Given the description of an element on the screen output the (x, y) to click on. 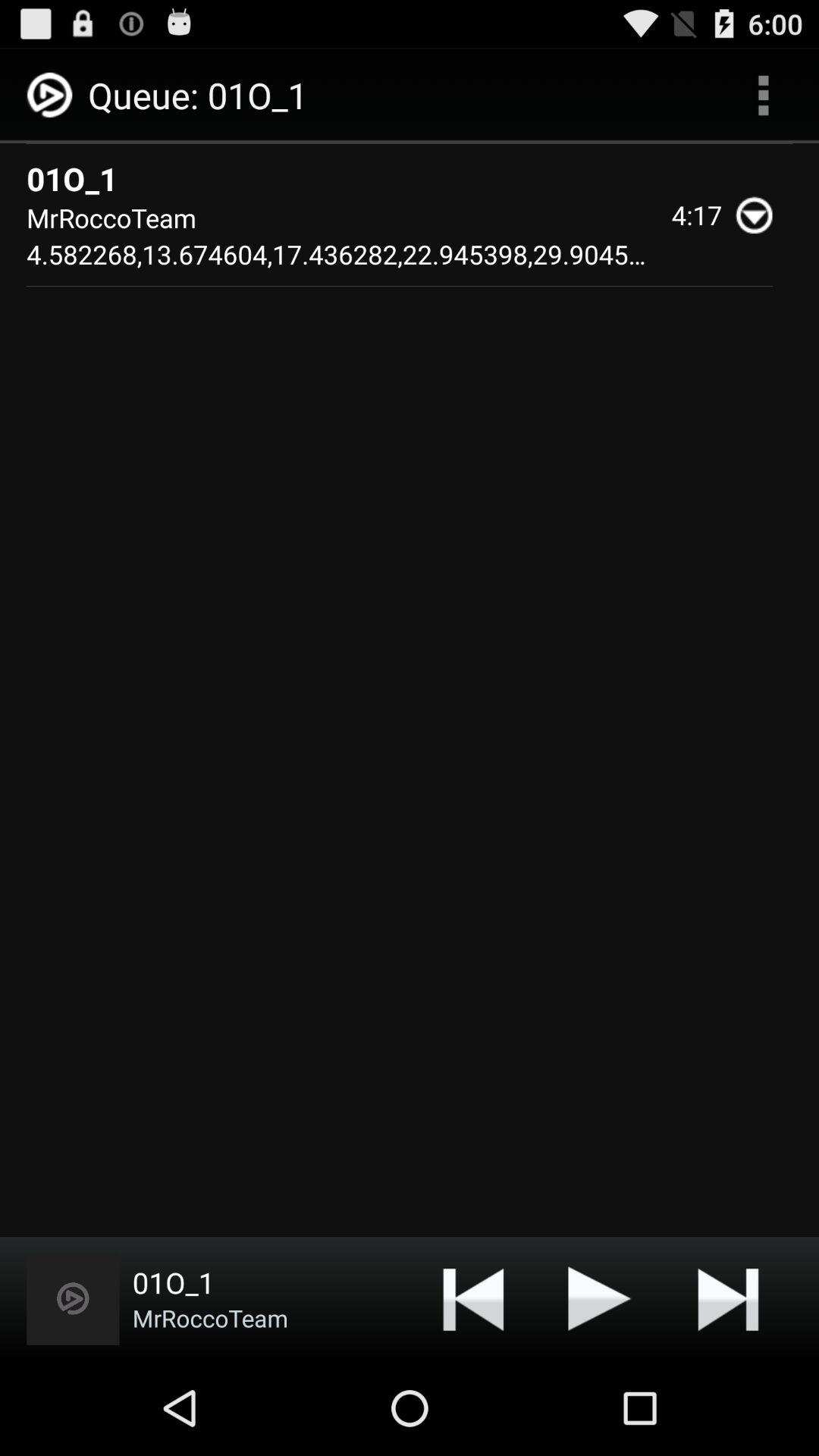
go to previous song (472, 1298)
